Given the description of an element on the screen output the (x, y) to click on. 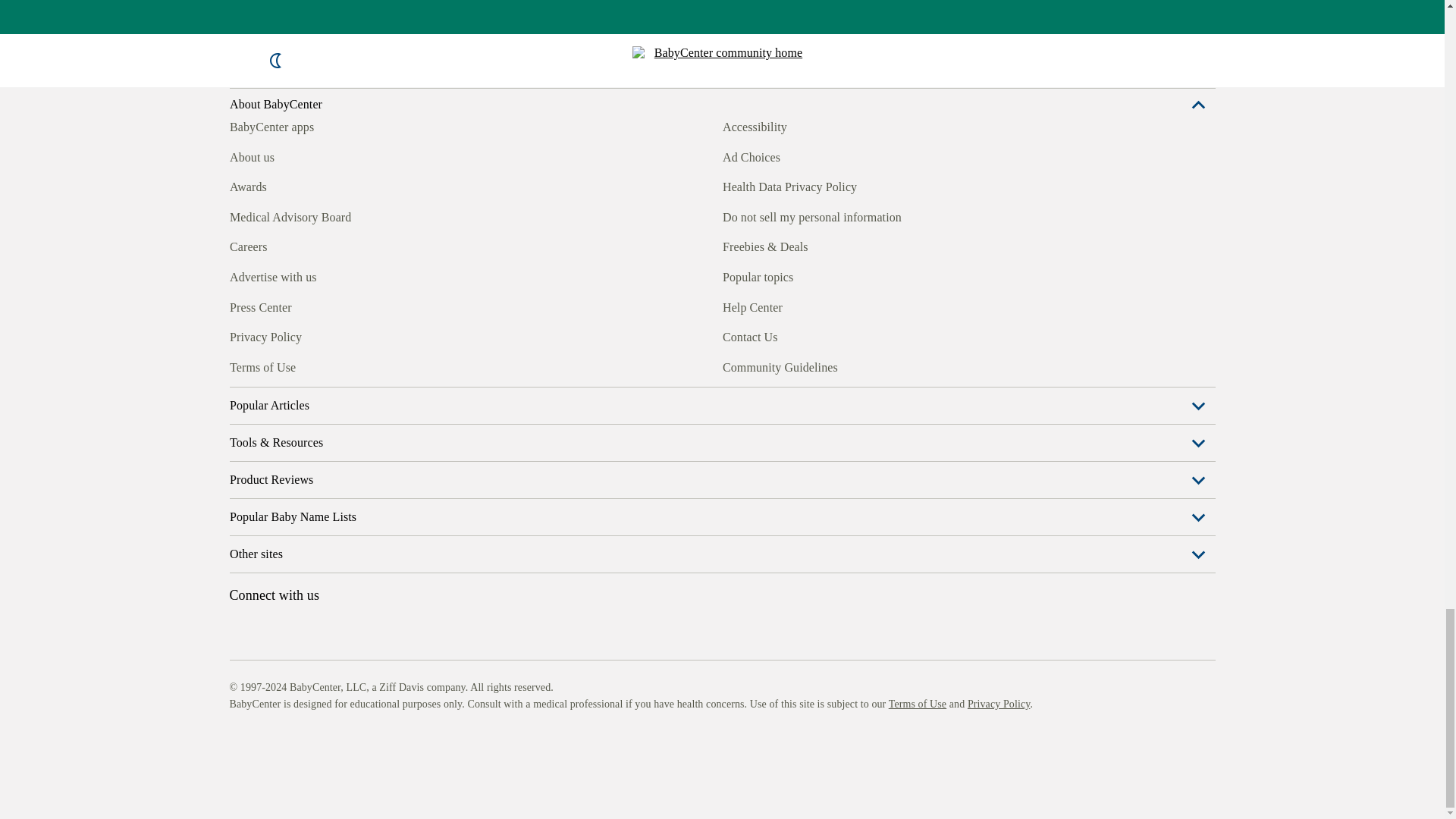
BabyCenter Instagram feed (274, 364)
BabyCenter YouTube channel (344, 364)
BabyCenter Twitter feed (379, 364)
BabyCenter Pinterest board (309, 364)
BabyCenter Facebook page (239, 364)
